Given the description of an element on the screen output the (x, y) to click on. 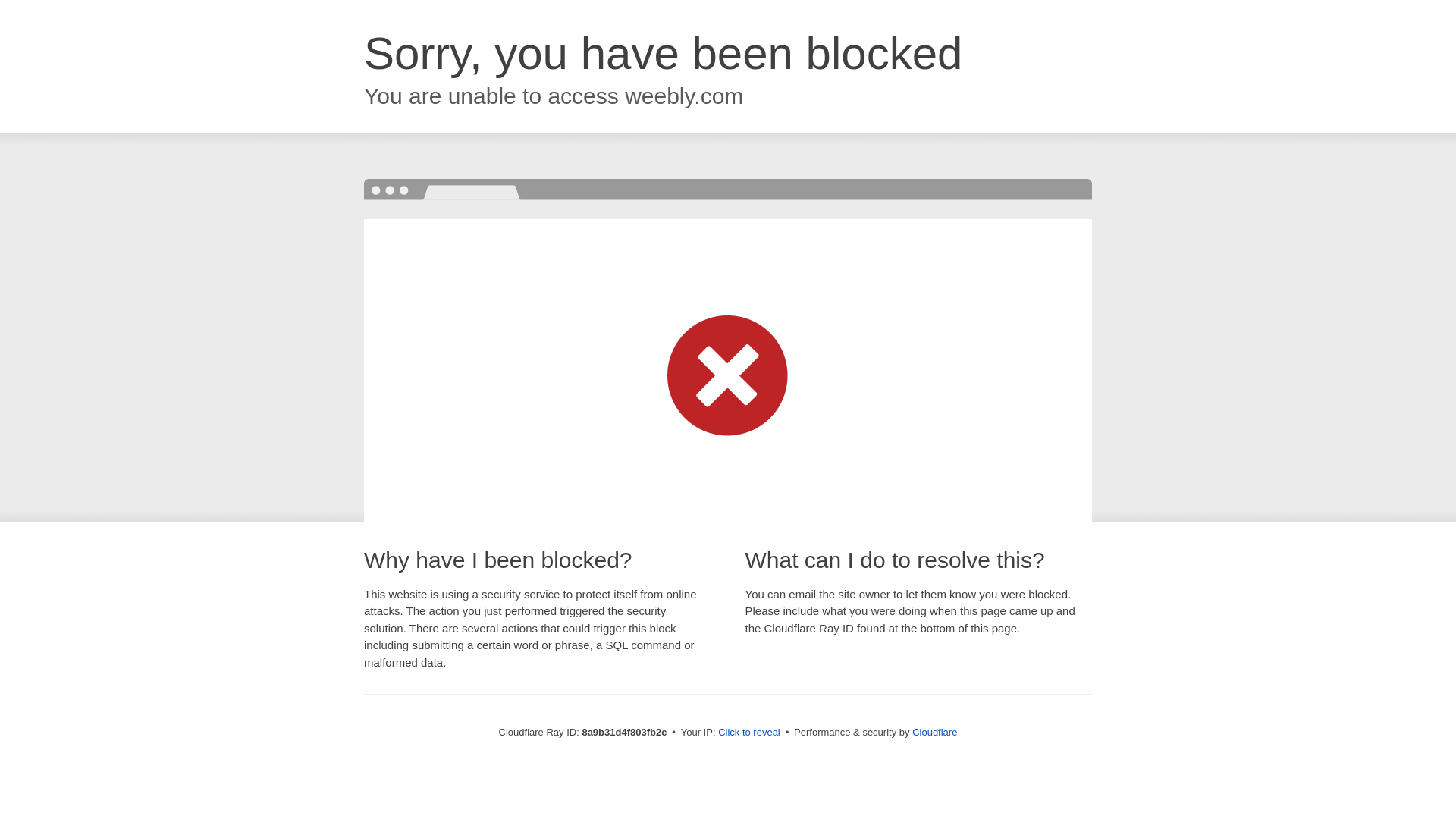
Cloudflare (934, 731)
Click to reveal (748, 732)
